Given the description of an element on the screen output the (x, y) to click on. 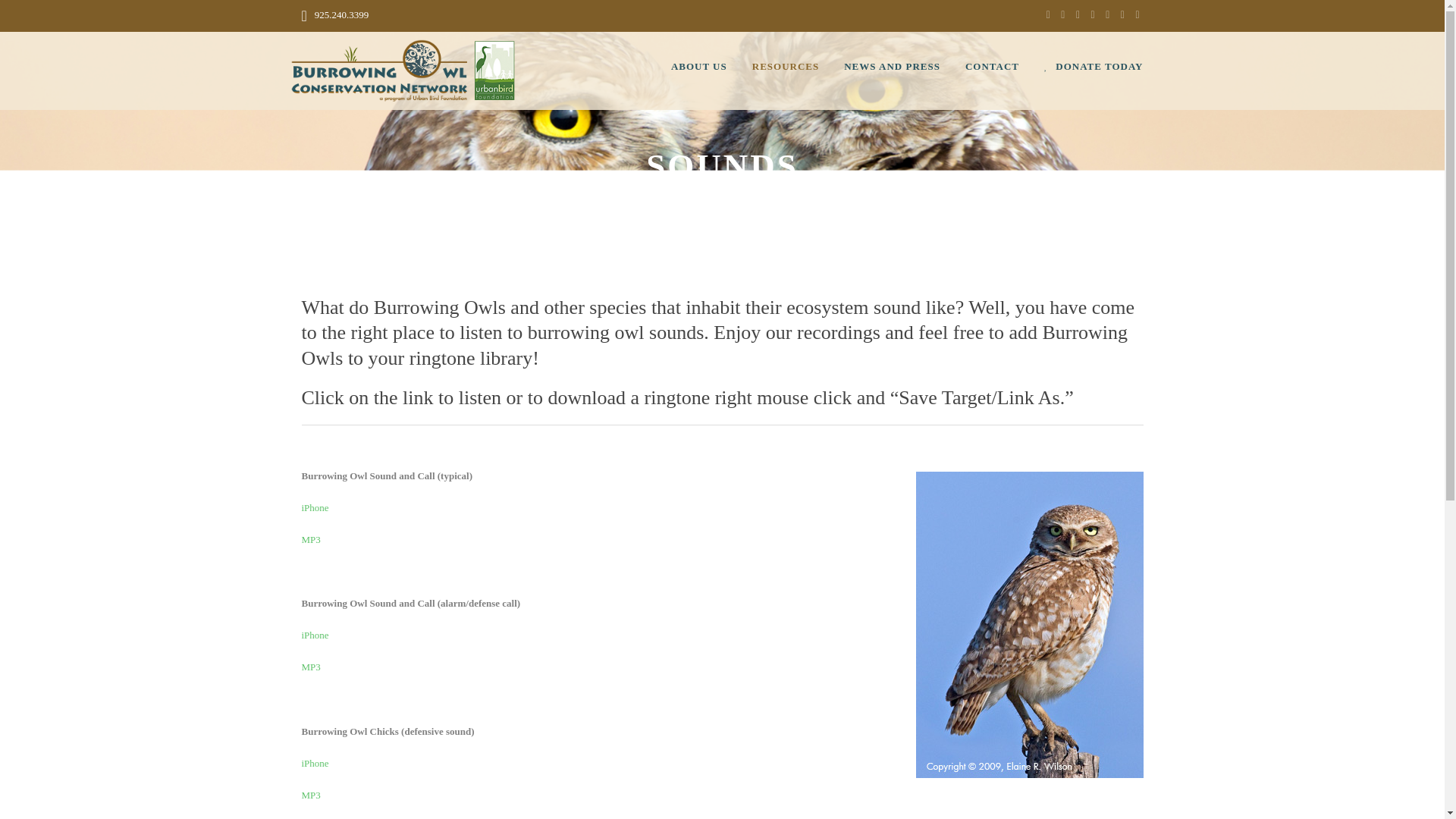
RESOURCES (798, 70)
iPhone (315, 507)
MP3 (310, 666)
NEWS AND PRESS (904, 70)
CONTACT (1004, 70)
DONATE TODAY (1092, 70)
MP3 (310, 539)
ABOUT US (711, 70)
iPhone (315, 634)
